Given the description of an element on the screen output the (x, y) to click on. 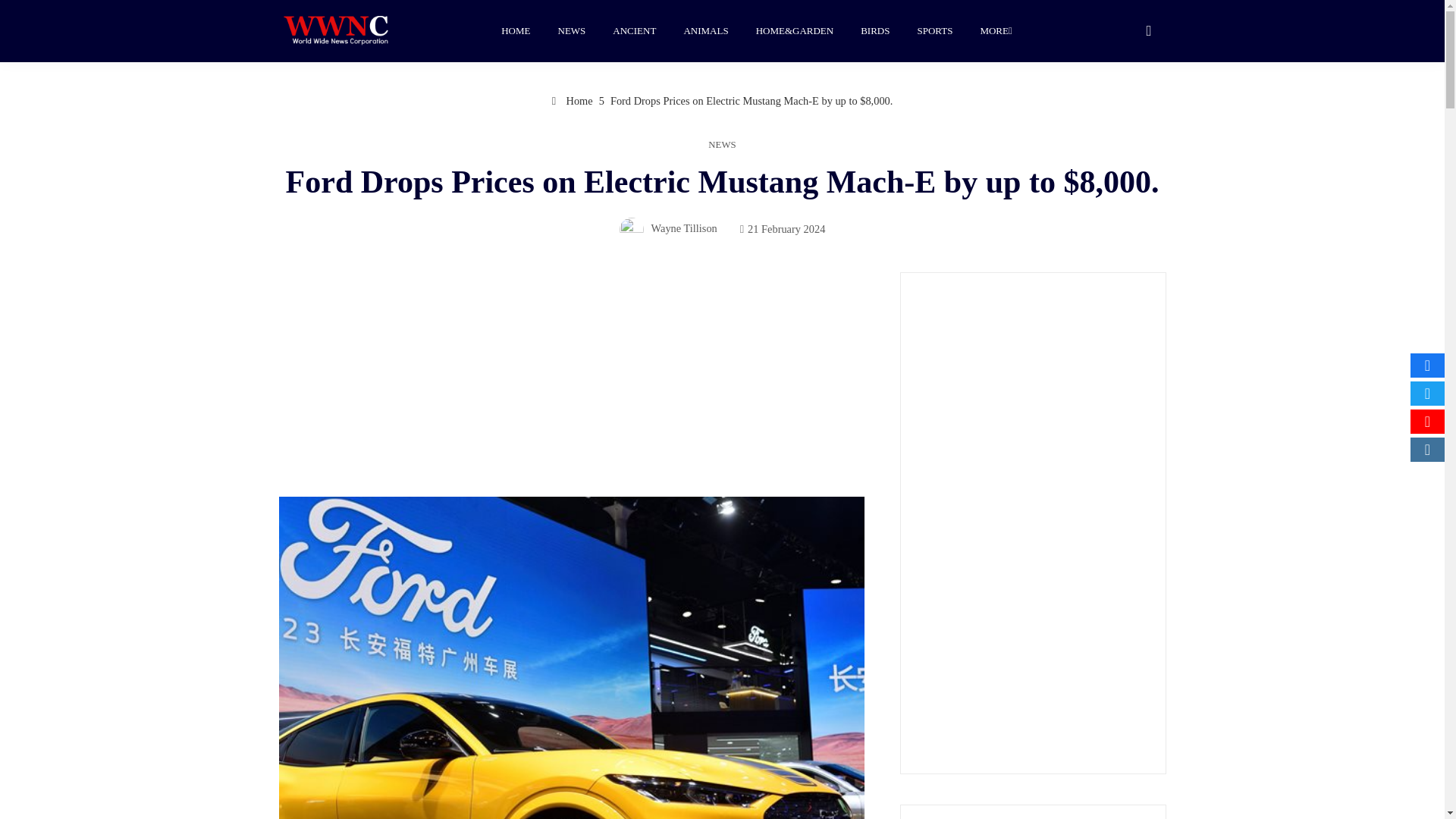
MORE (995, 30)
Advertisement (1032, 523)
ANCIENT (633, 30)
HOME (515, 30)
Advertisement (571, 384)
BIRDS (874, 30)
SPORTS (934, 30)
NEWS (571, 30)
NEWS (721, 144)
Home (571, 101)
ANIMALS (705, 30)
